Given the description of an element on the screen output the (x, y) to click on. 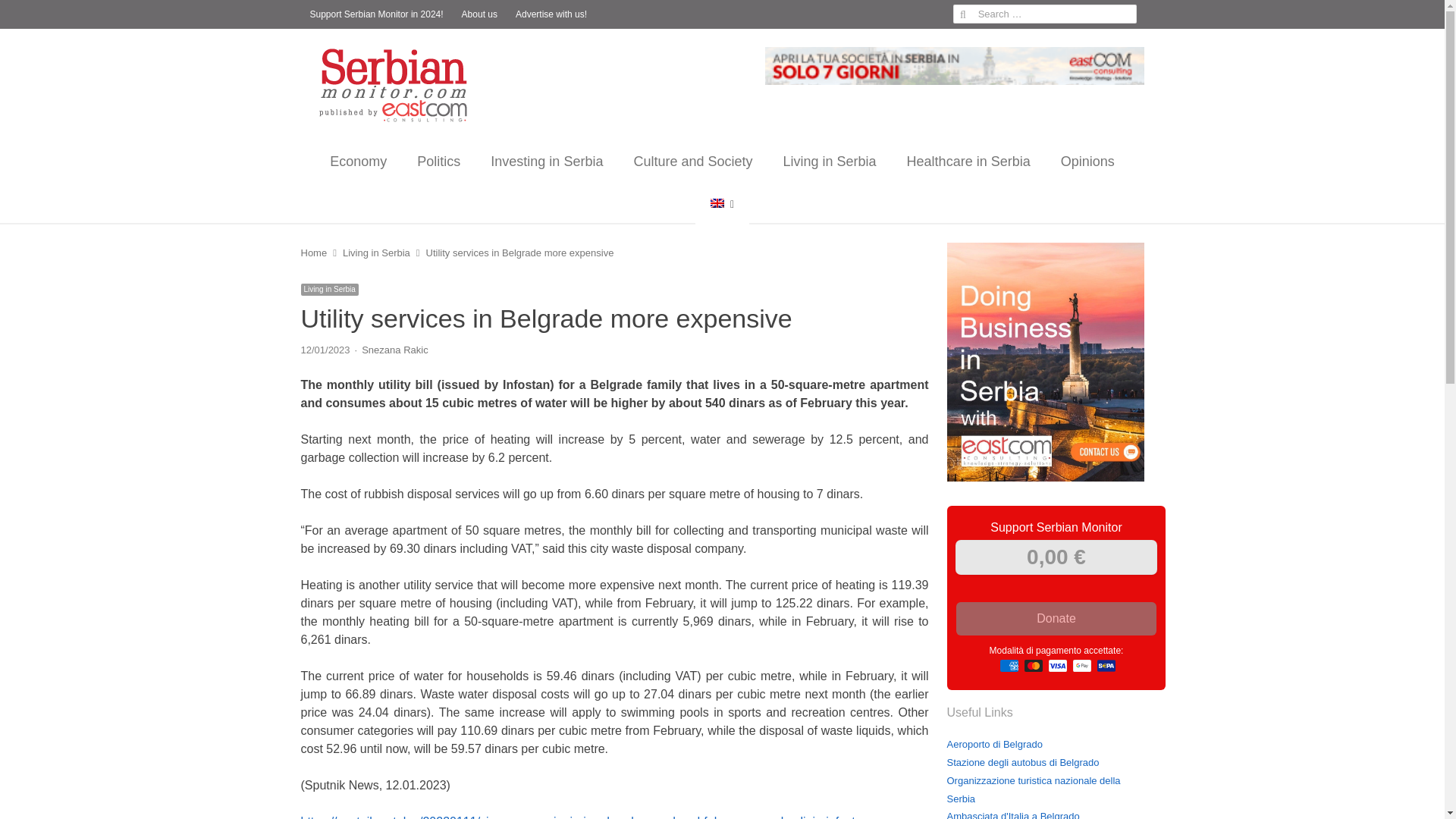
Ambasciata d''Italia a Belgrado (1012, 814)
Organizzazione turistica nazionale della Serbia (1032, 789)
Home (312, 252)
Support Serbian Monitor in 2024! (375, 13)
Search (27, 13)
Politics (438, 161)
Advertise with us! (550, 13)
Aeroporto di Belgrado (994, 744)
Organizzazione turistica nazionale della Serbia (1032, 789)
Serbian Monitor (398, 84)
